Given the description of an element on the screen output the (x, y) to click on. 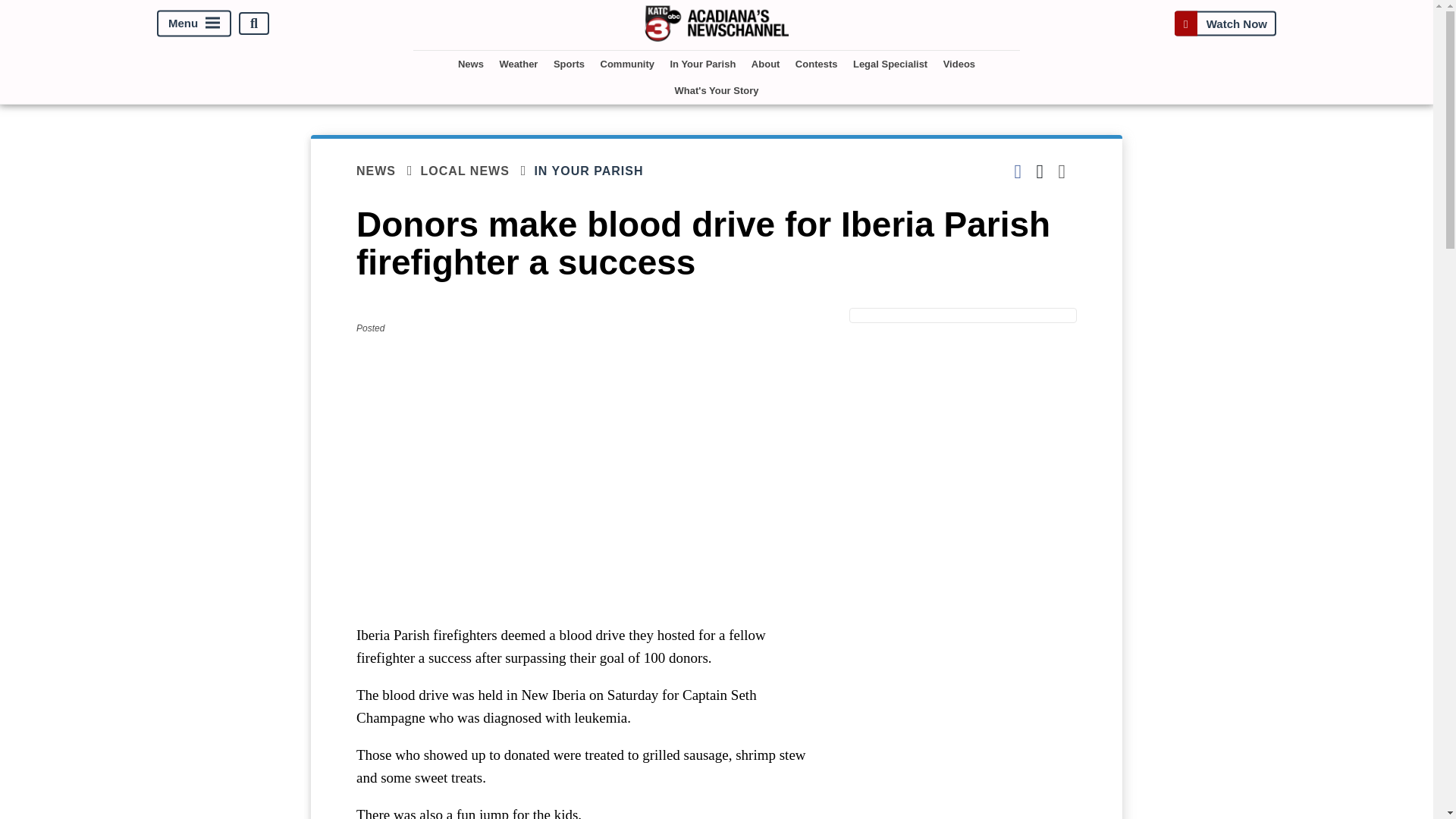
YouTube player (587, 478)
Menu (194, 23)
Watch Now (1224, 23)
